Given the description of an element on the screen output the (x, y) to click on. 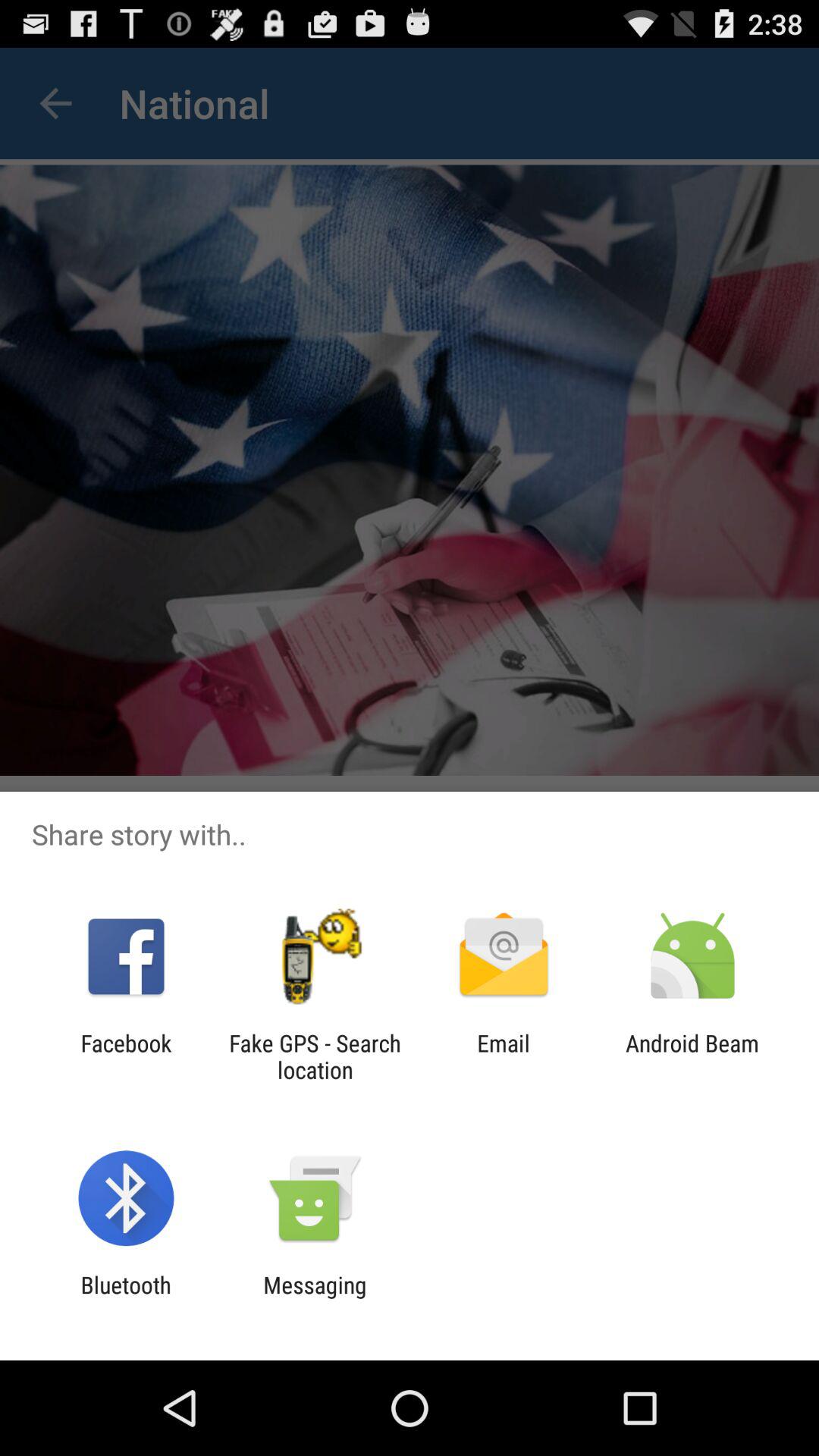
press app next to the email (692, 1056)
